Given the description of an element on the screen output the (x, y) to click on. 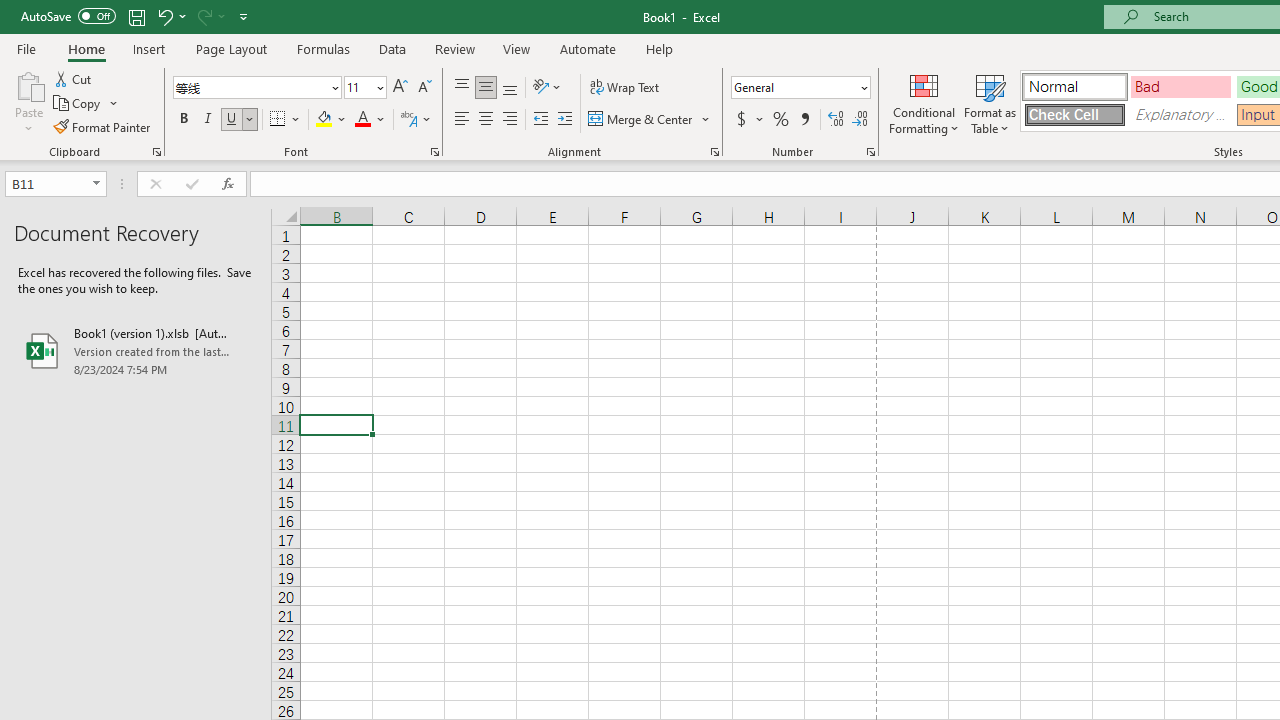
Font Size (365, 87)
Office Clipboard... (156, 151)
Align Right (509, 119)
Underline (239, 119)
Align Left (461, 119)
Paste (28, 84)
Copy (78, 103)
Format Cell Number (870, 151)
Comma Style (804, 119)
Cut (73, 78)
Font (250, 87)
